Given the description of an element on the screen output the (x, y) to click on. 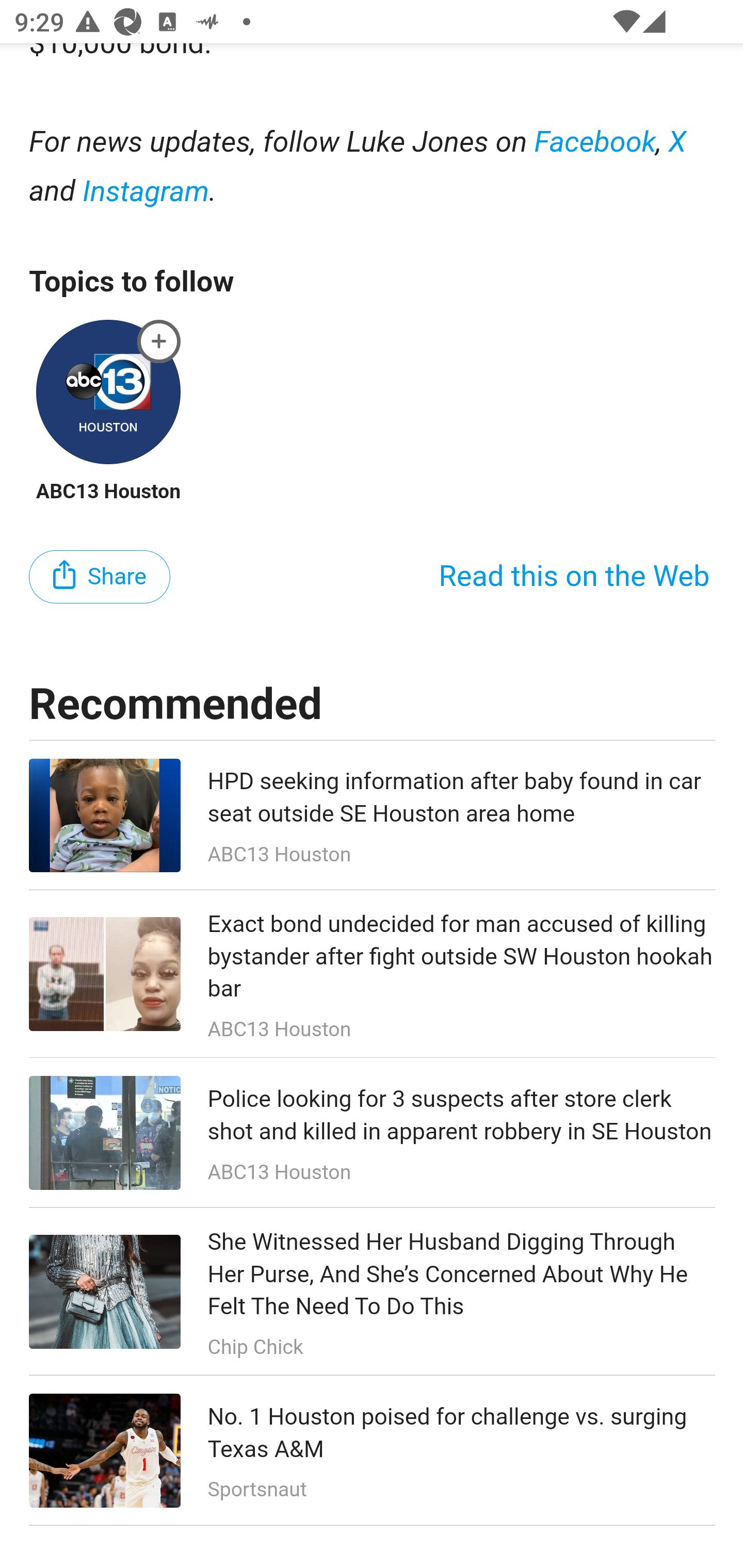
Facebook (594, 142)
X (677, 142)
Instagram (145, 190)
14556087 (159, 341)
ABC13 Houston (108, 490)
Read this on the Web (573, 576)
Share (99, 576)
